Given the description of an element on the screen output the (x, y) to click on. 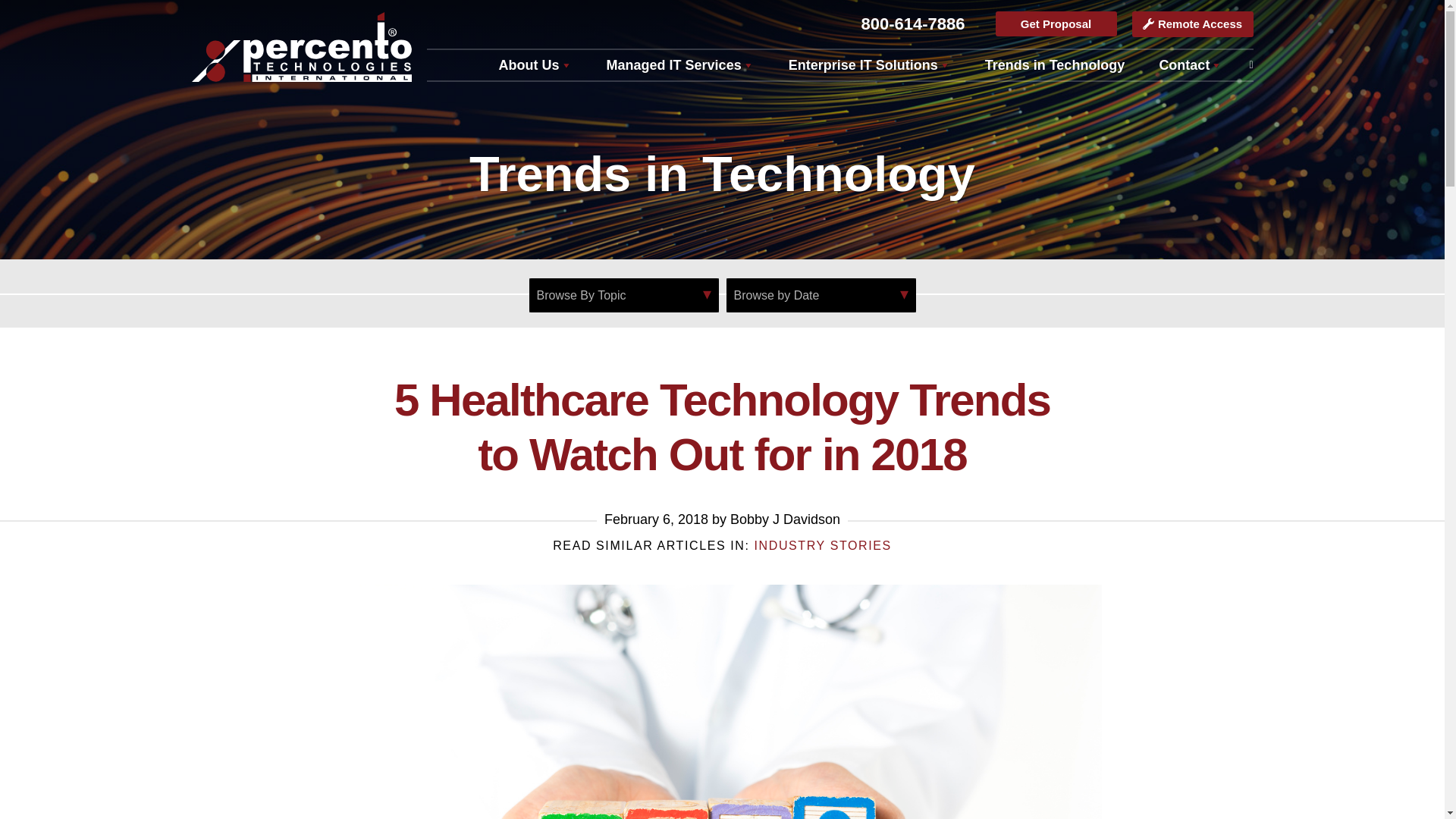
Remote Access (1191, 23)
Get Proposal (1055, 23)
Enterprise IT Solutions (869, 64)
About Us (535, 64)
Managed IT Services (679, 64)
800-614-7886 (911, 23)
